Given the description of an element on the screen output the (x, y) to click on. 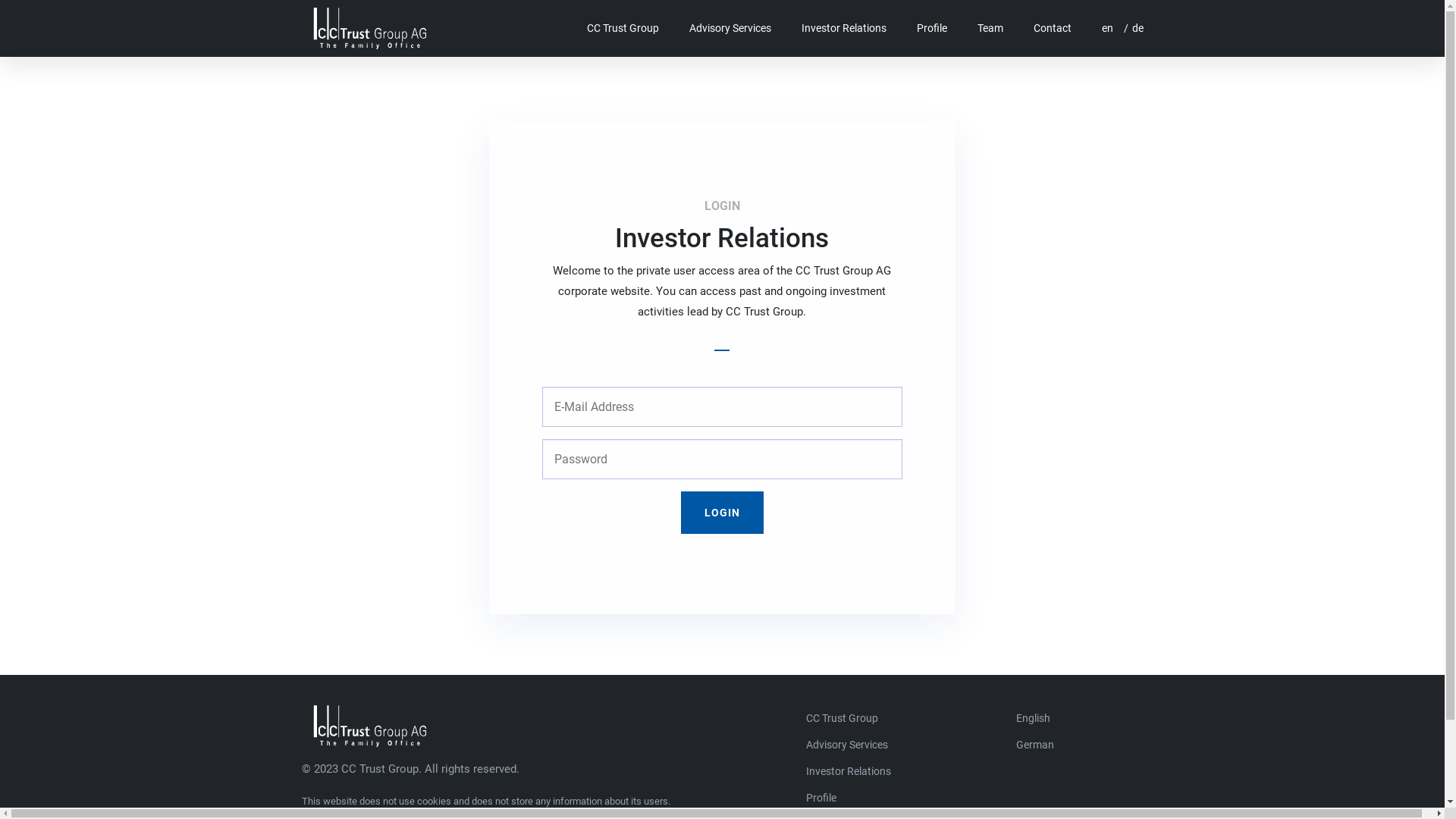
Team Element type: text (990, 28)
CC Trust Group Element type: hover (369, 724)
LOGIN Element type: text (721, 512)
Investor Relations Element type: text (847, 771)
Investor Relations Element type: text (843, 28)
CC Trust Group Element type: text (621, 28)
CC Trust Group Element type: hover (369, 27)
Advisory Services Element type: text (846, 745)
Profile Element type: text (931, 28)
Contact Element type: text (1052, 28)
en Element type: text (1101, 28)
Profile Element type: text (820, 798)
German Element type: text (1035, 745)
Advisory Services Element type: text (729, 28)
de Element type: text (1129, 28)
English Element type: text (1033, 718)
CC Trust Group Element type: text (841, 718)
